Given the description of an element on the screen output the (x, y) to click on. 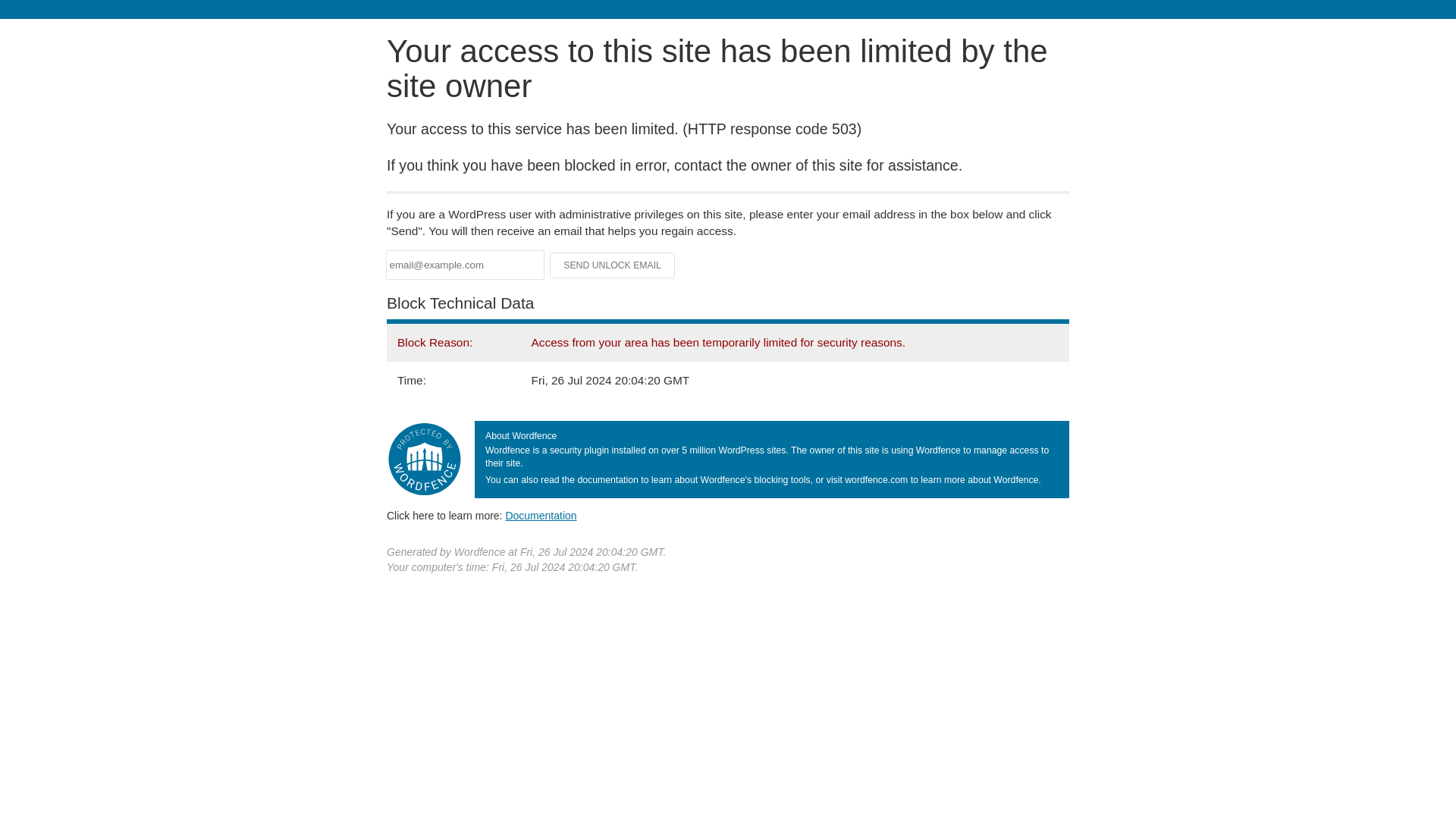
Documentation (540, 515)
Send Unlock Email (612, 265)
Send Unlock Email (612, 265)
